Given the description of an element on the screen output the (x, y) to click on. 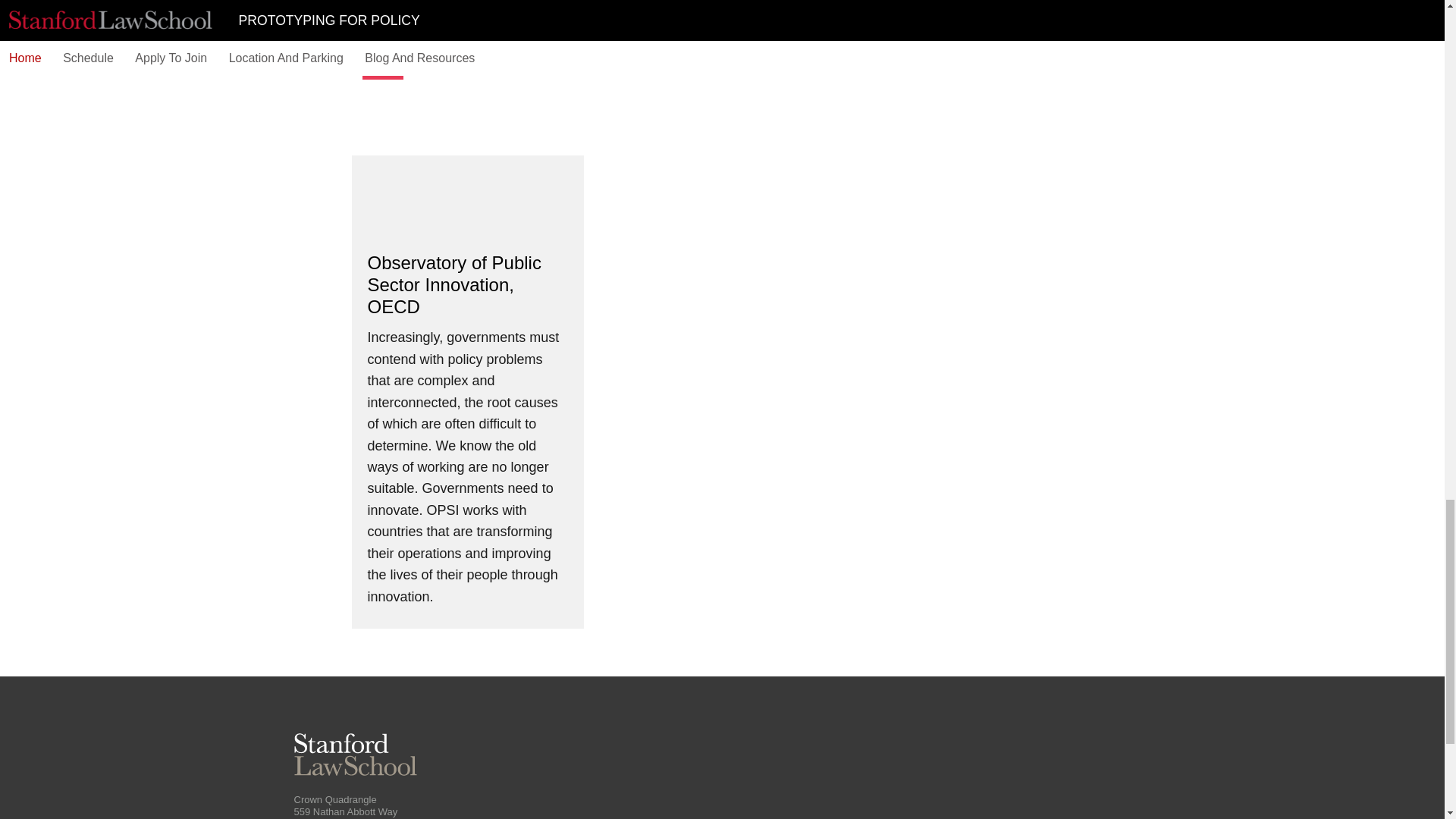
Observatory of Public Sector Innovation, OECD (466, 284)
Stanford Law School (355, 753)
